Given the description of an element on the screen output the (x, y) to click on. 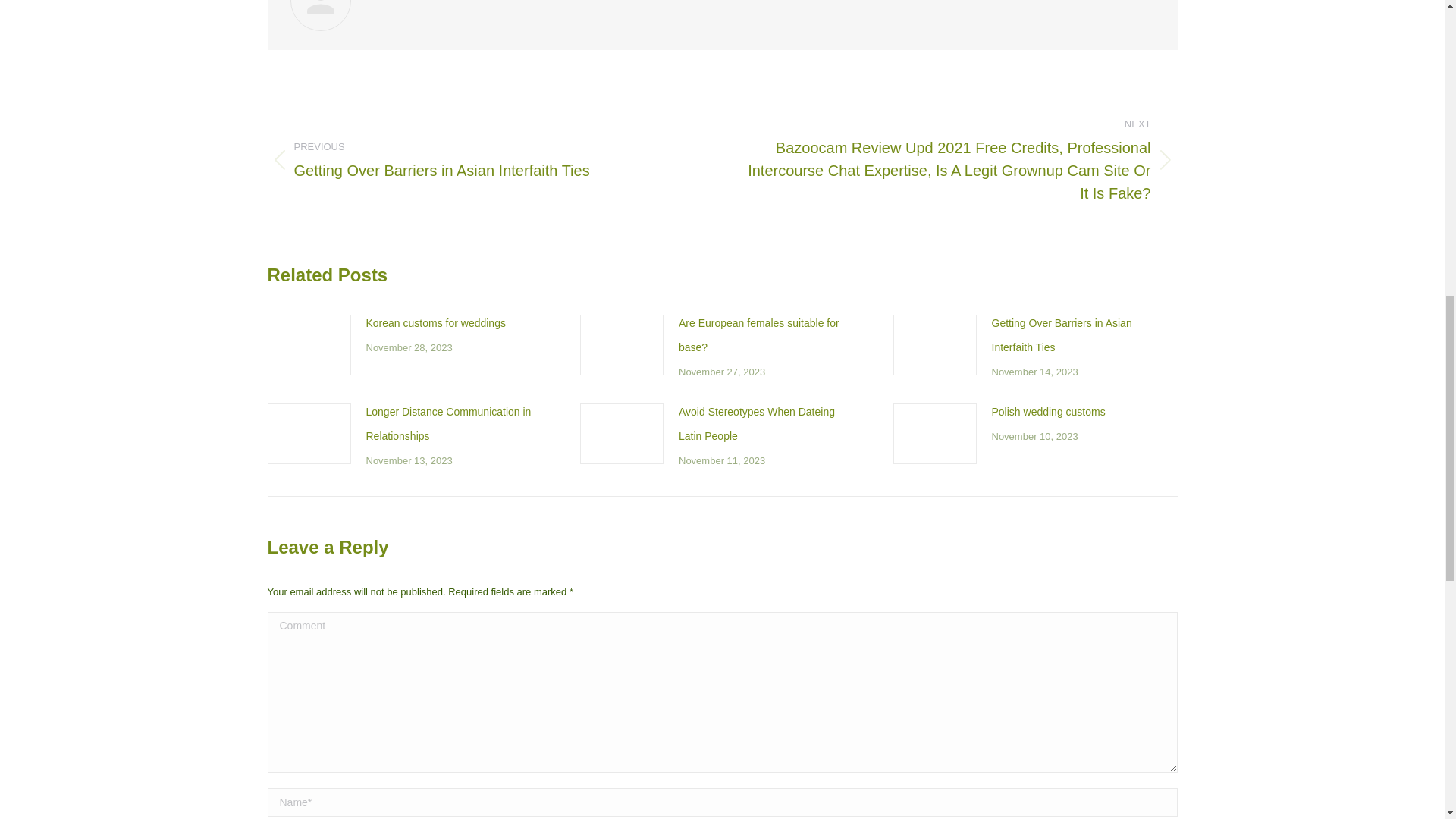
Getting Over Barriers in Asian Interfaith Ties (1080, 335)
Avoid Stereotypes When Dateing Latin People (767, 423)
Longer Distance Communication in Relationships (453, 423)
Korean customs for weddings (435, 322)
Are European females suitable for base? (767, 335)
